Given the description of an element on the screen output the (x, y) to click on. 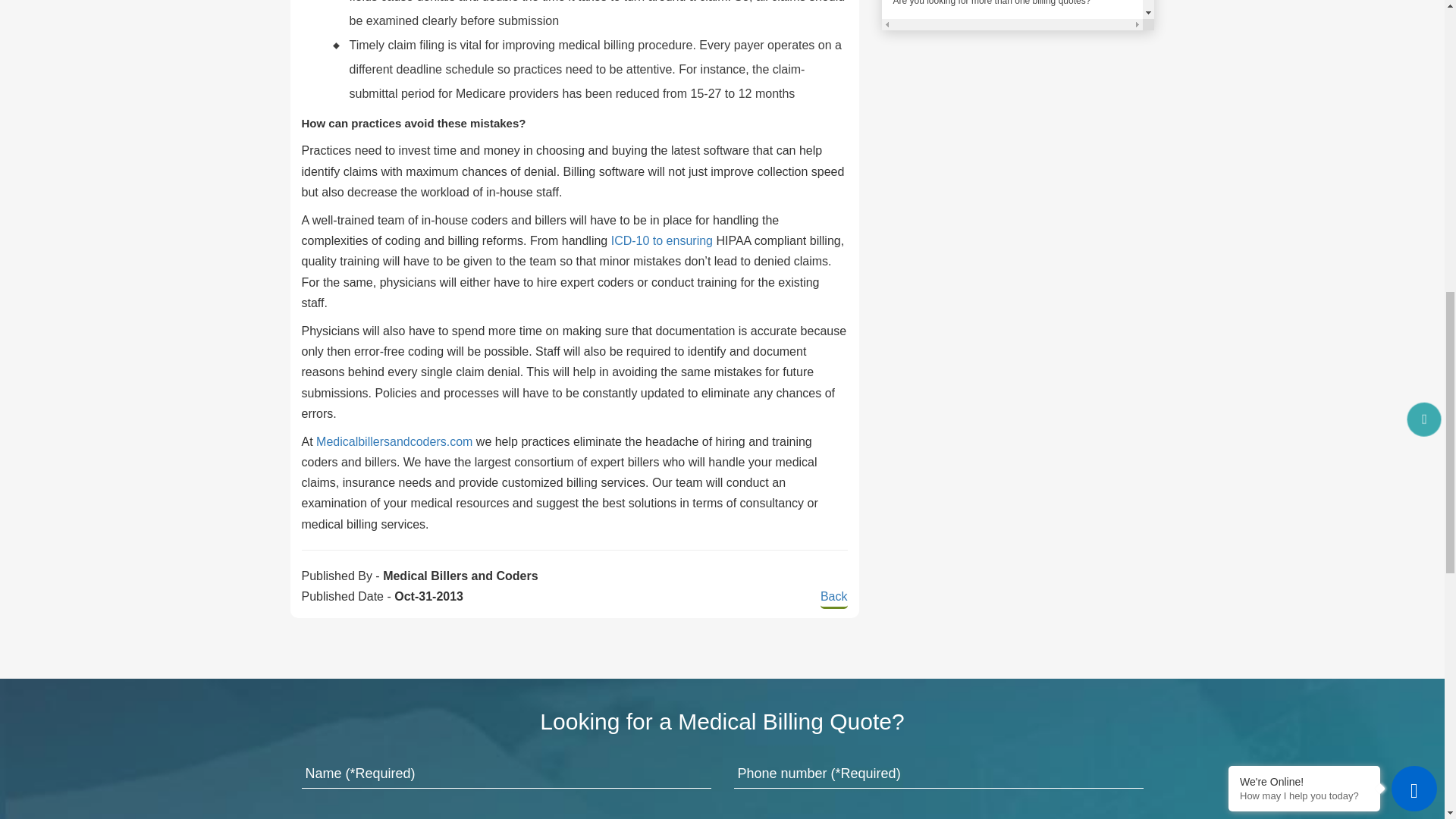
No (949, 25)
Yes (902, 25)
